Given the description of an element on the screen output the (x, y) to click on. 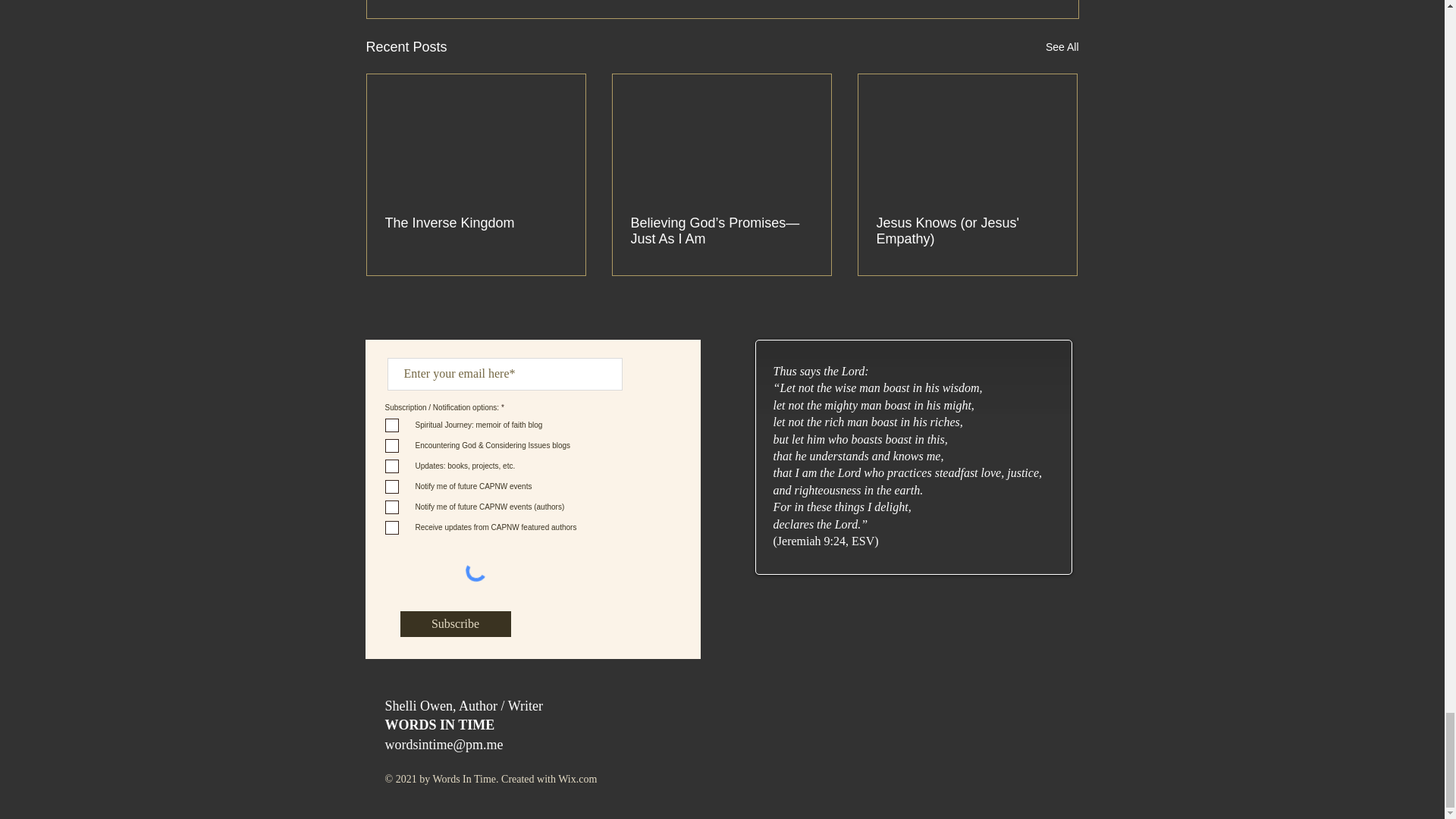
The Inverse Kingdom (476, 222)
See All (1061, 47)
